Given the description of an element on the screen output the (x, y) to click on. 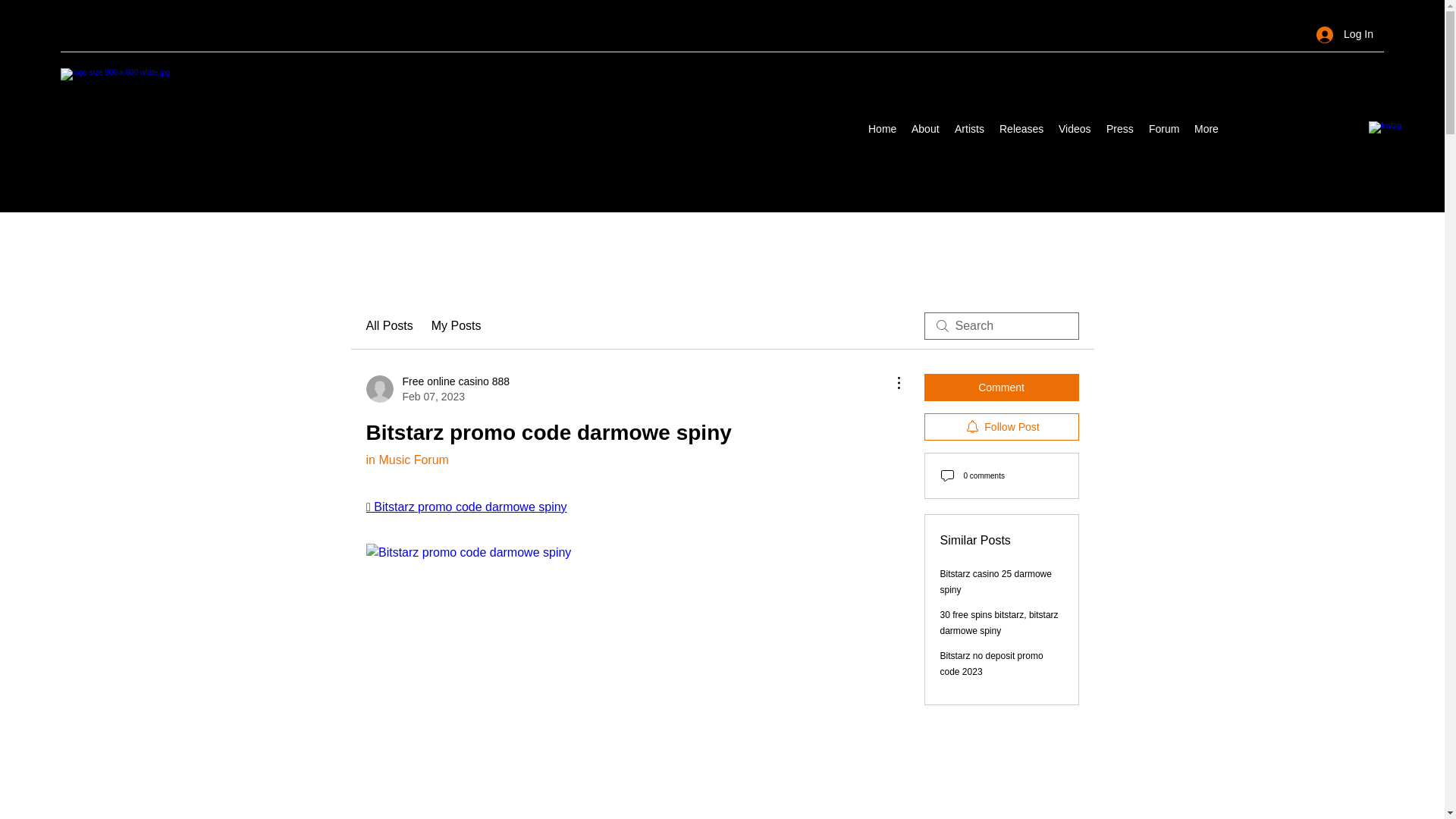
My Posts (455, 325)
Press (1120, 128)
Forum (1163, 128)
Bitstarz no deposit promo code 2023 (991, 663)
Follow Post (1000, 426)
Comment (1000, 387)
About (925, 128)
Artists (969, 128)
Log In (1345, 34)
Videos (1075, 128)
Home (882, 128)
in Music Forum (437, 388)
Bitstarz casino 25 darmowe spiny (406, 459)
All Posts (995, 581)
